Given the description of an element on the screen output the (x, y) to click on. 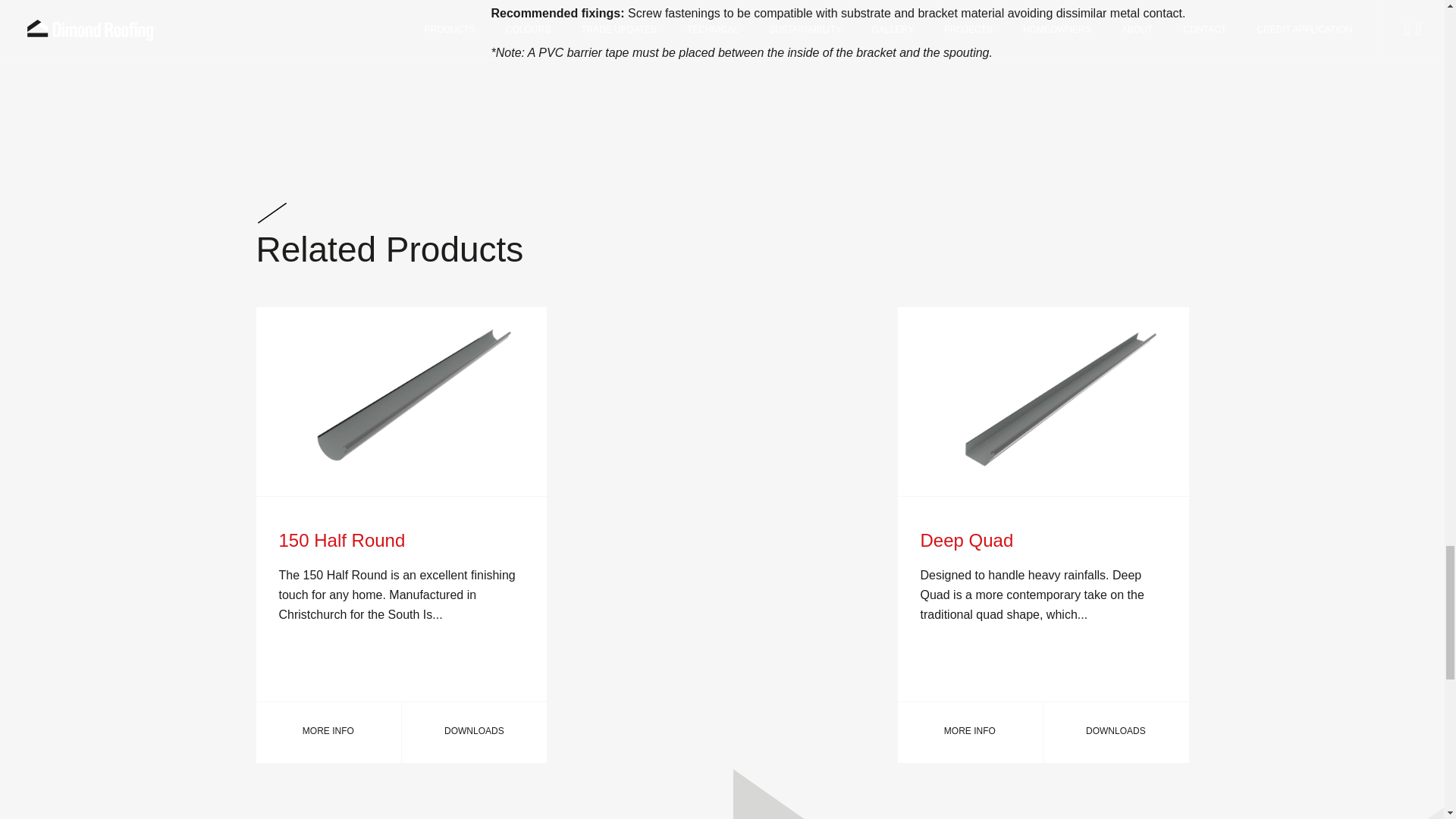
Deep Quad Slate (1043, 401)
150 Half Round Slate (401, 401)
